Given the description of an element on the screen output the (x, y) to click on. 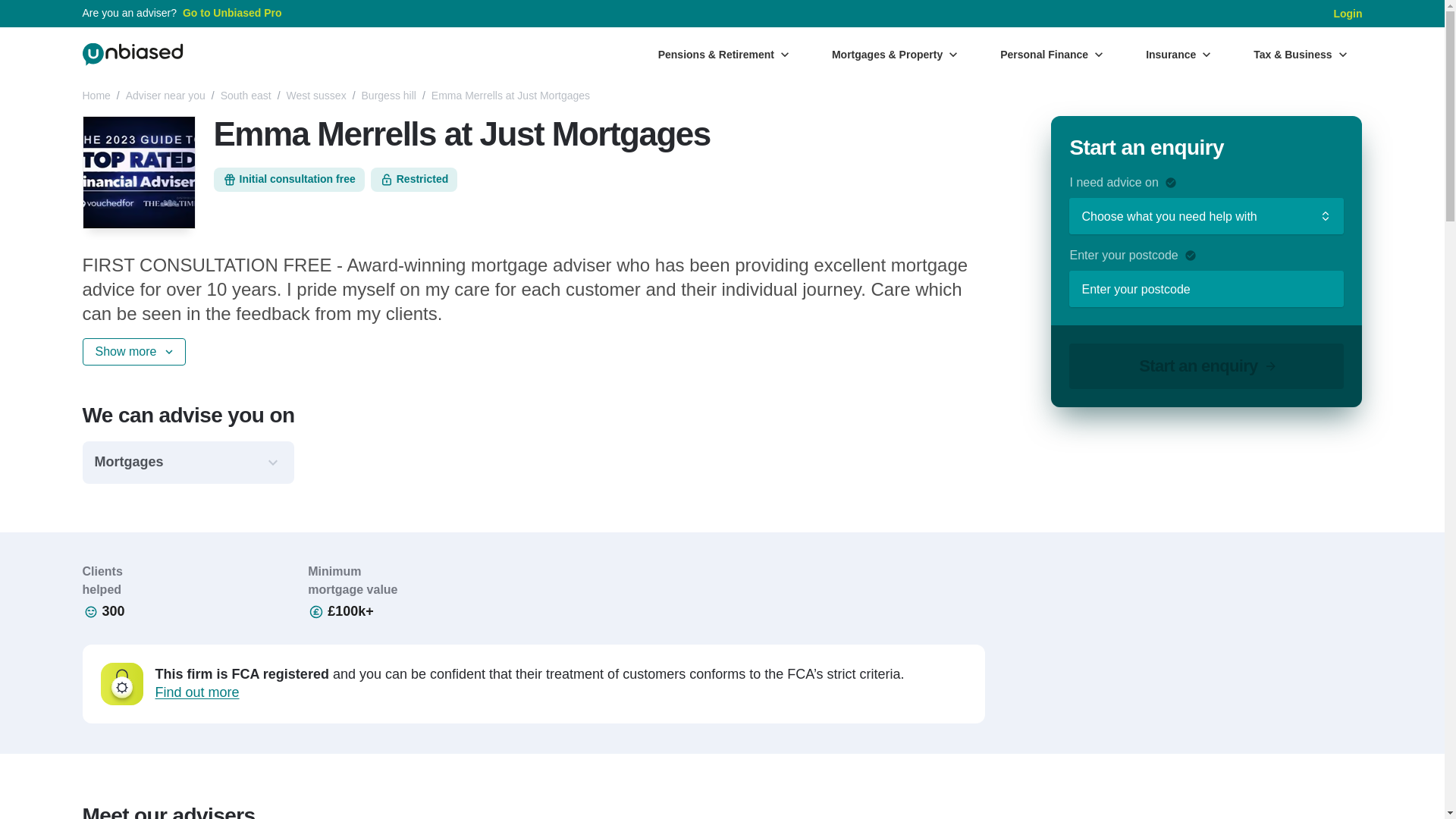
Burgess hill (388, 95)
South east (245, 95)
Find out more (196, 692)
Start an enquiry (1205, 366)
Personal Finance (1051, 54)
West sussex (316, 95)
Adviser near you (165, 95)
Insurance (1178, 54)
Mortgages (187, 462)
Show more (133, 351)
